Given the description of an element on the screen output the (x, y) to click on. 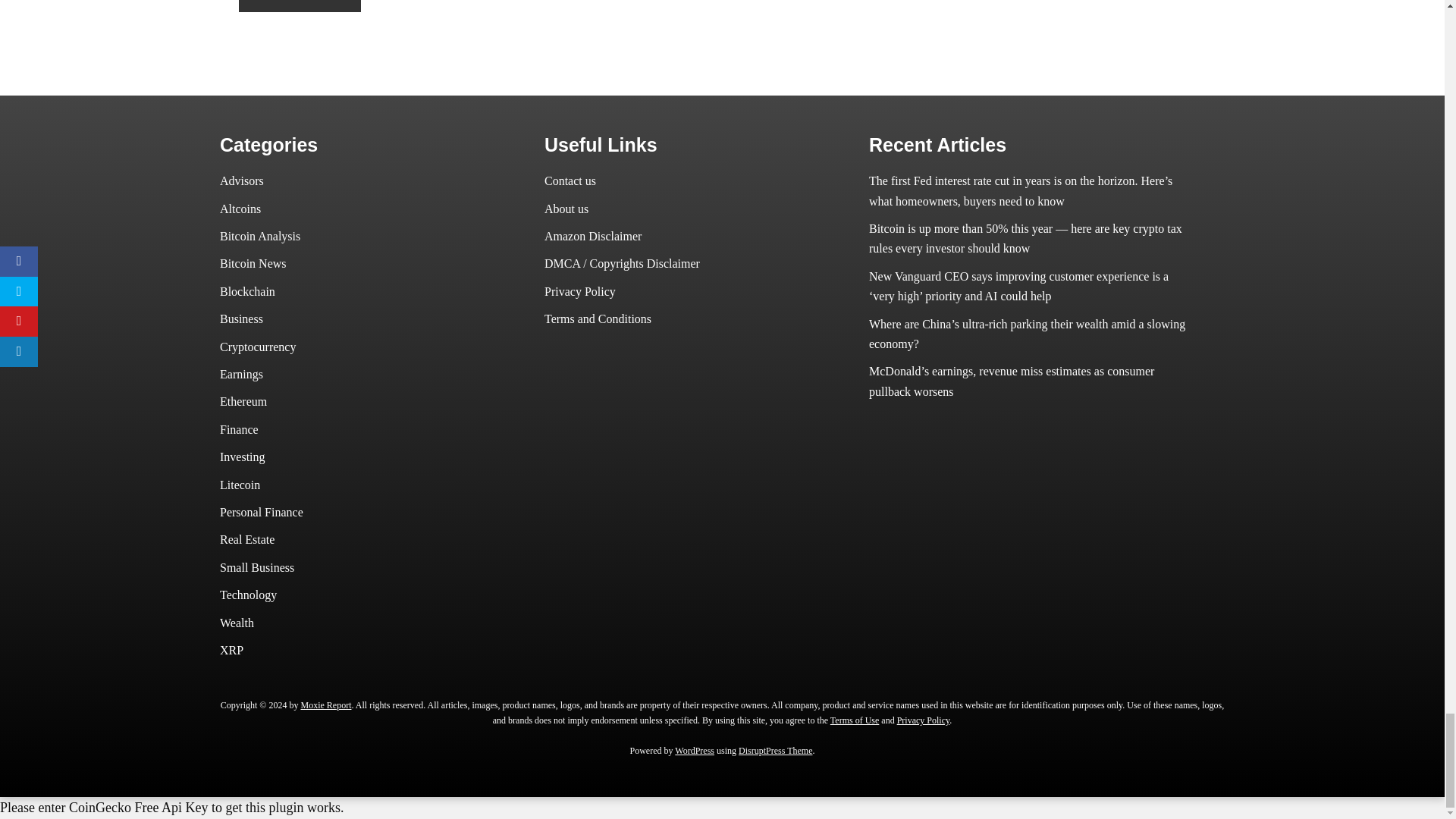
Post Comment (299, 6)
